Given the description of an element on the screen output the (x, y) to click on. 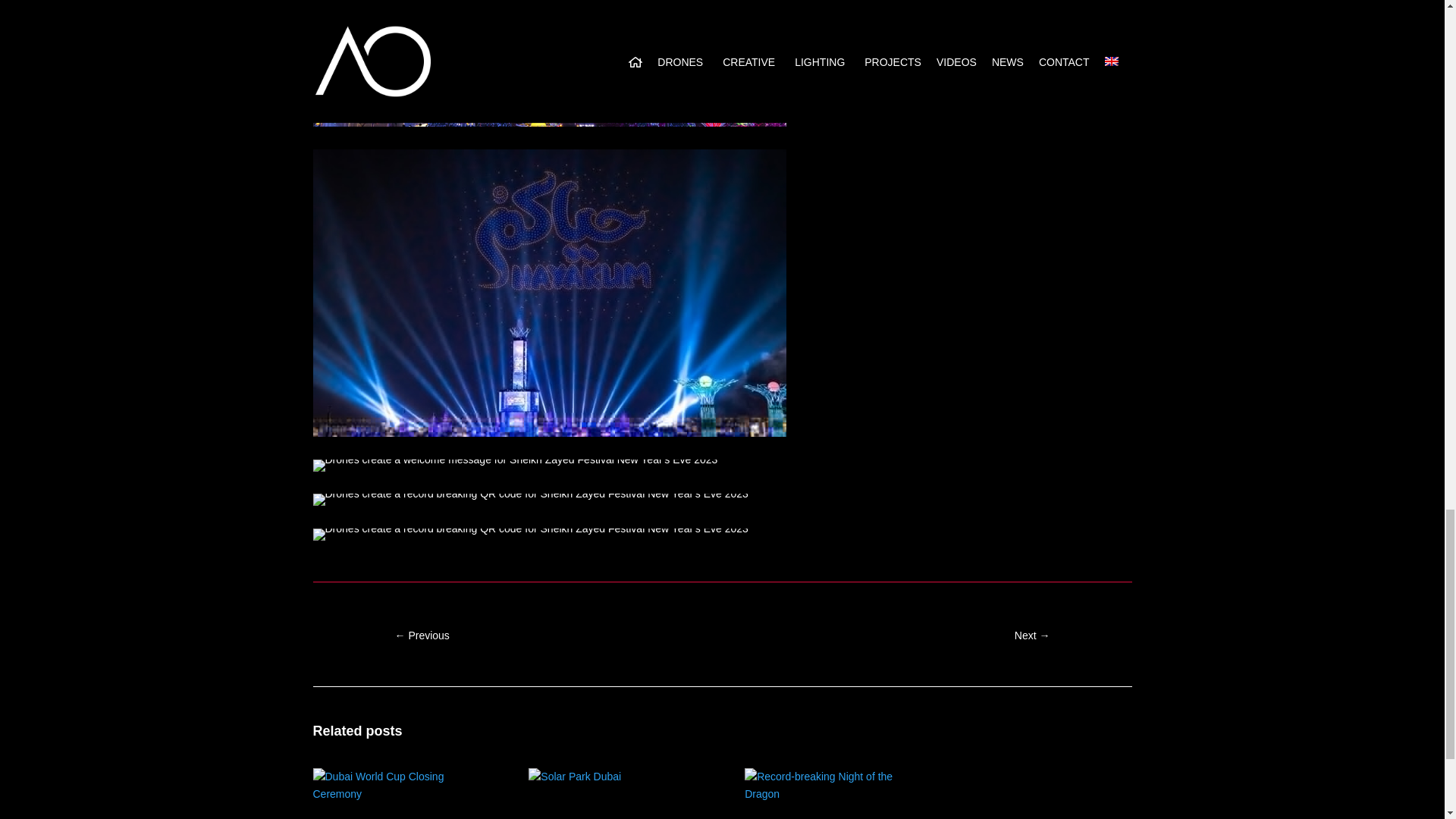
Solar Park Dubai (613, 776)
Dubai World Cup Closing Ceremony (398, 785)
Record-breaking Night of the Dragon (829, 785)
